Given the description of an element on the screen output the (x, y) to click on. 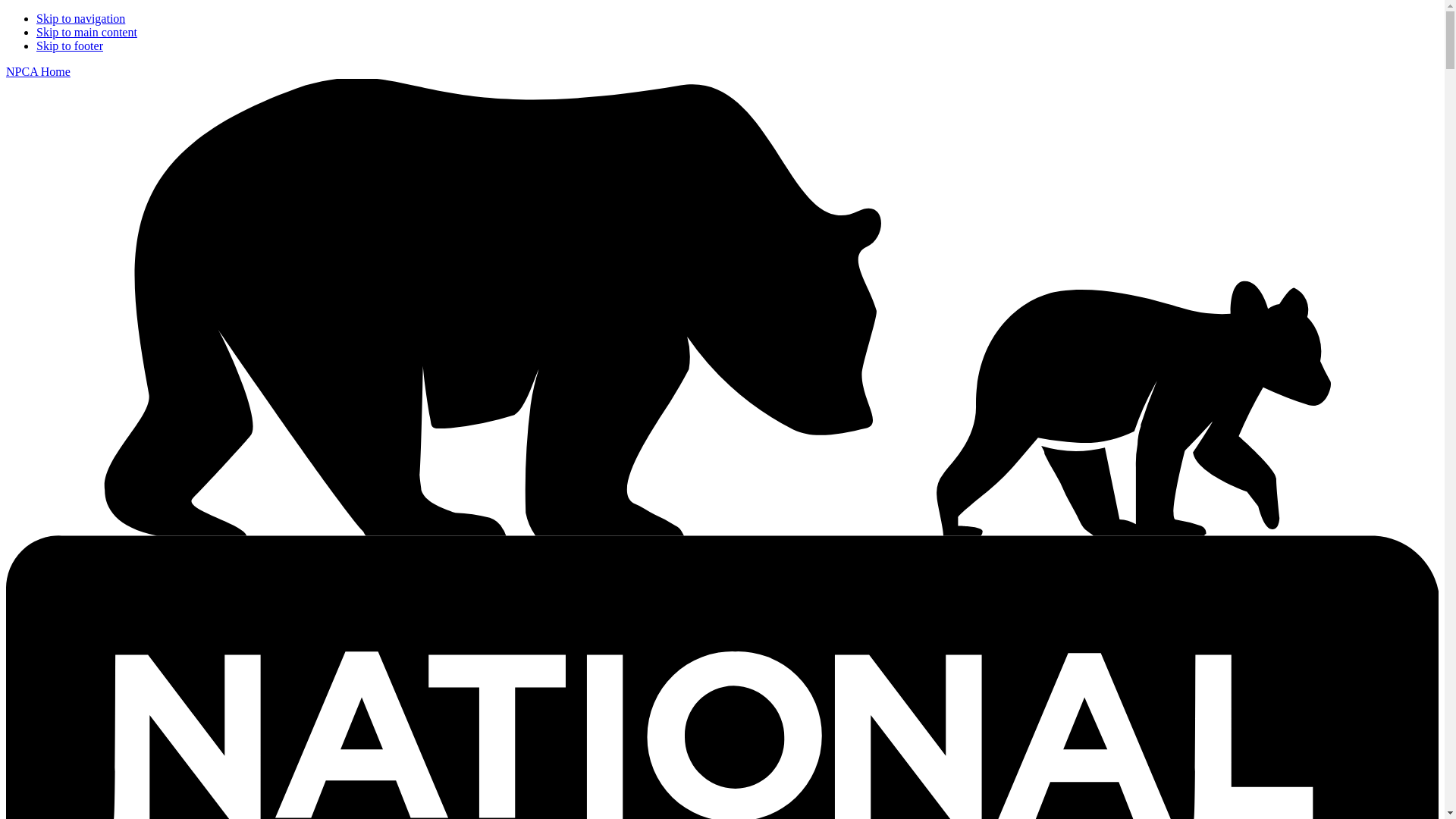
Skip to footer (69, 45)
Skip to navigation (80, 18)
Skip to main content (86, 31)
